Given the description of an element on the screen output the (x, y) to click on. 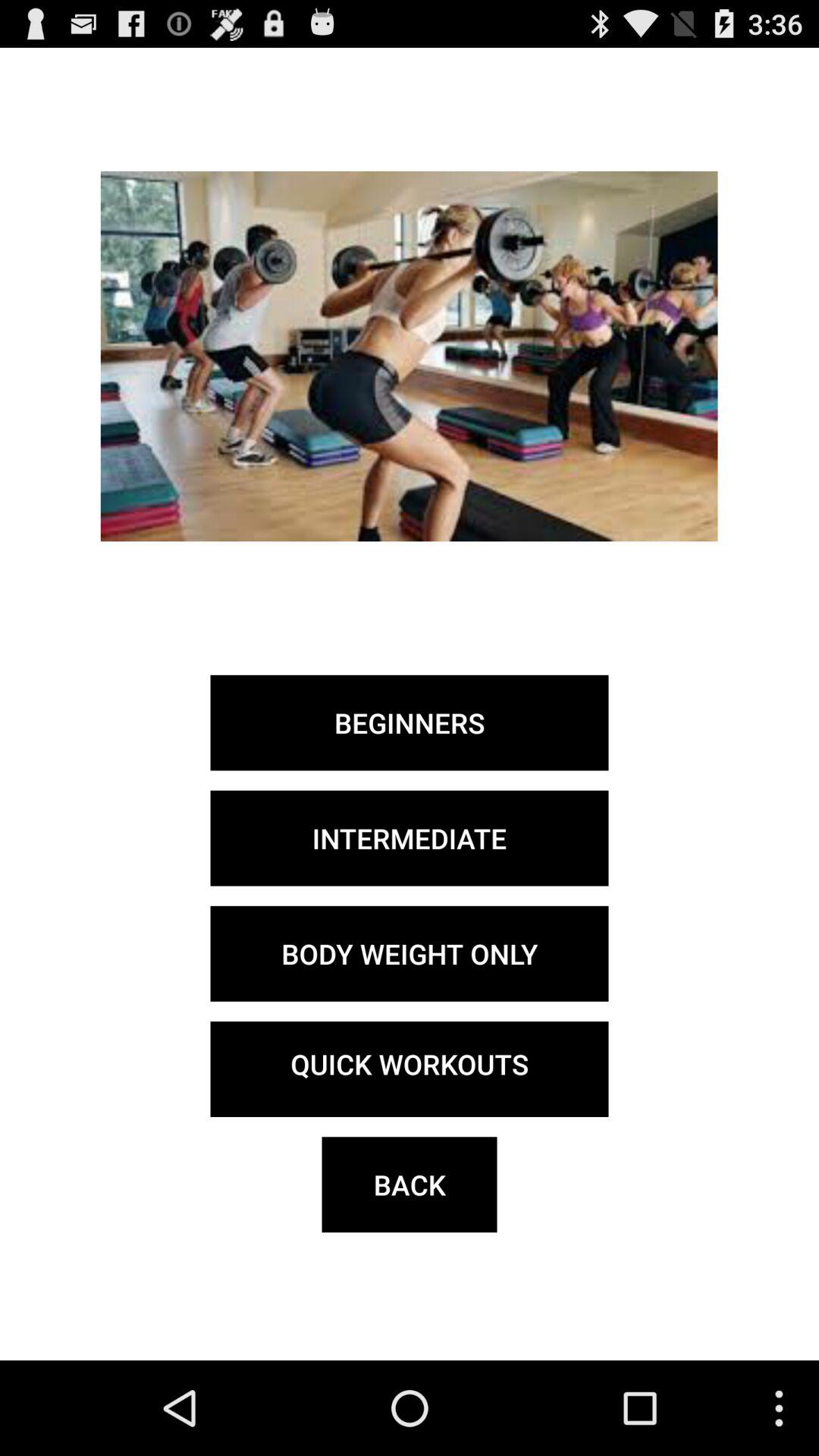
tap the icon above back icon (409, 1069)
